Given the description of an element on the screen output the (x, y) to click on. 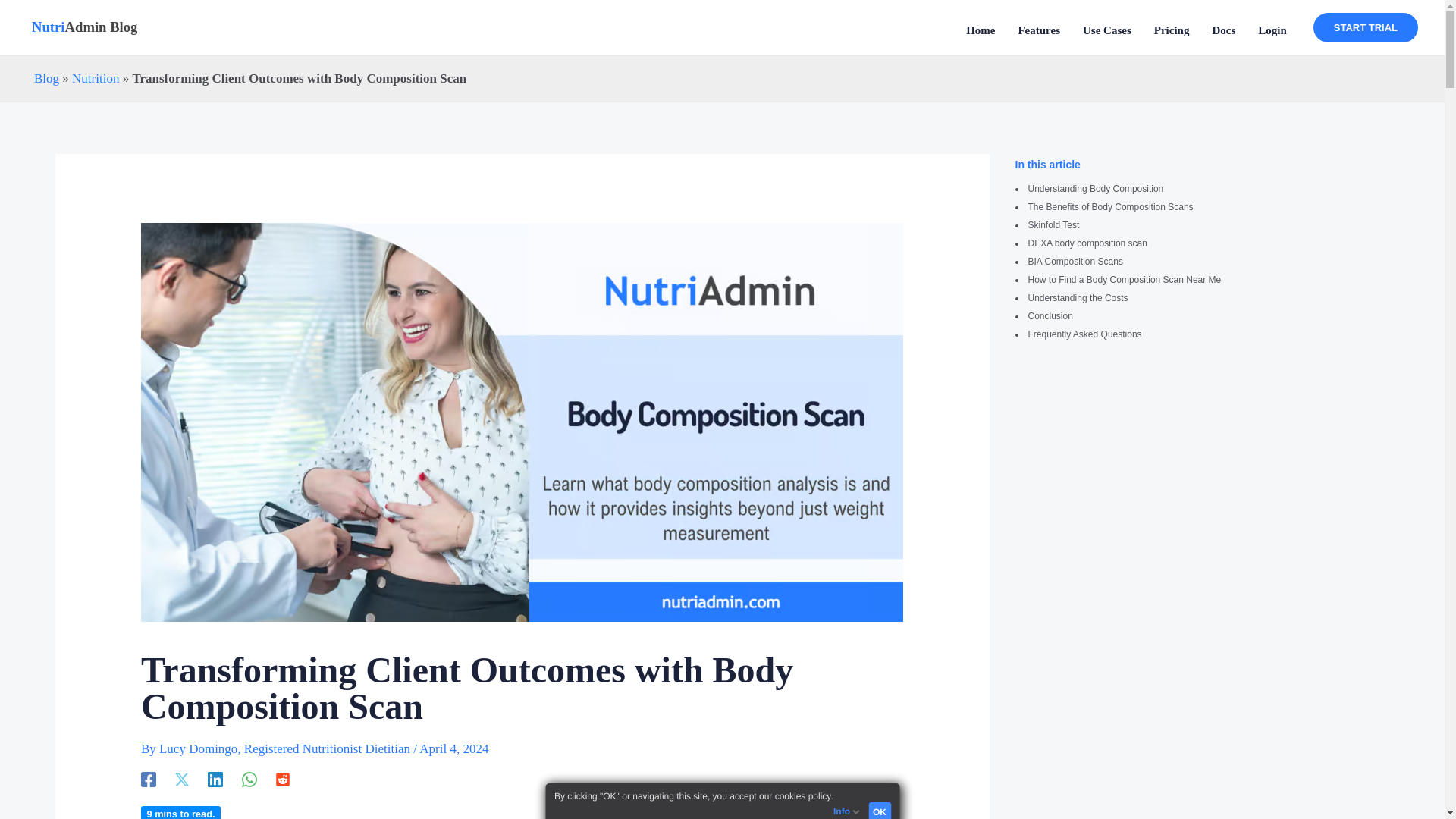
Info (849, 809)
OK (879, 810)
